Given the description of an element on the screen output the (x, y) to click on. 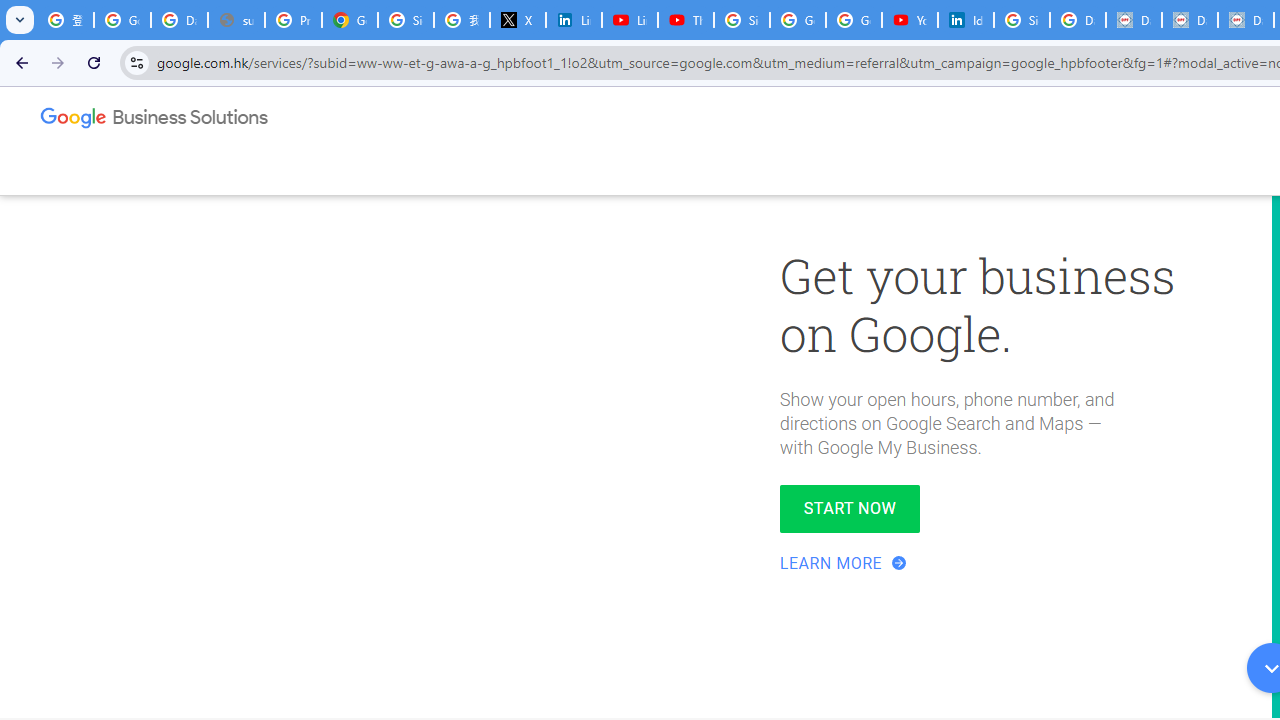
LEARN MORE  (845, 563)
LinkedIn Privacy Policy (573, 20)
Privacy Help Center - Policies Help (293, 20)
Data Privacy Framework (1133, 20)
